Given the description of an element on the screen output the (x, y) to click on. 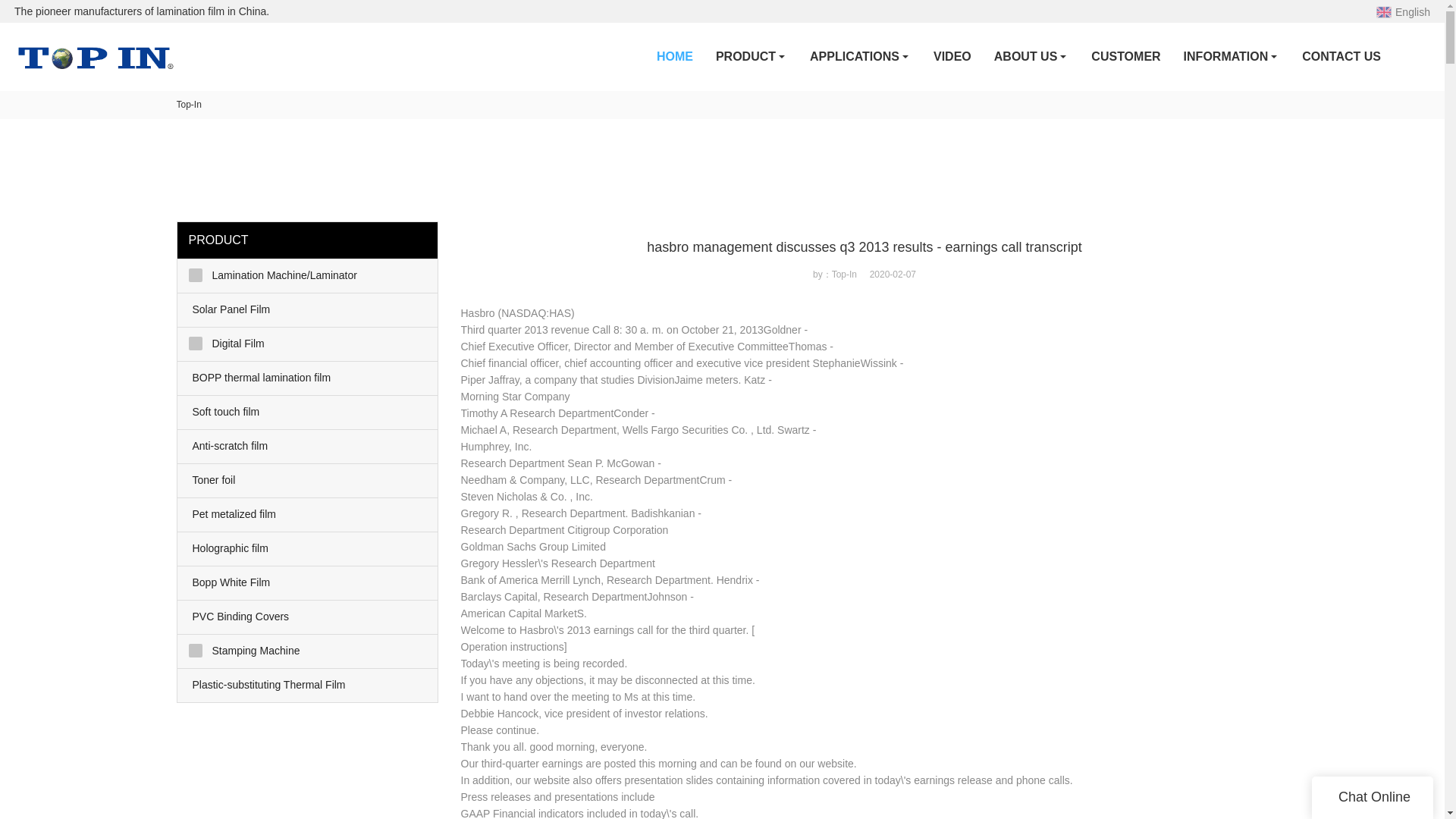
CUSTOMER (1126, 56)
ABOUT US (1031, 56)
VIDEO (951, 56)
APPLICATIONS (859, 56)
PRODUCT (750, 56)
